Given the description of an element on the screen output the (x, y) to click on. 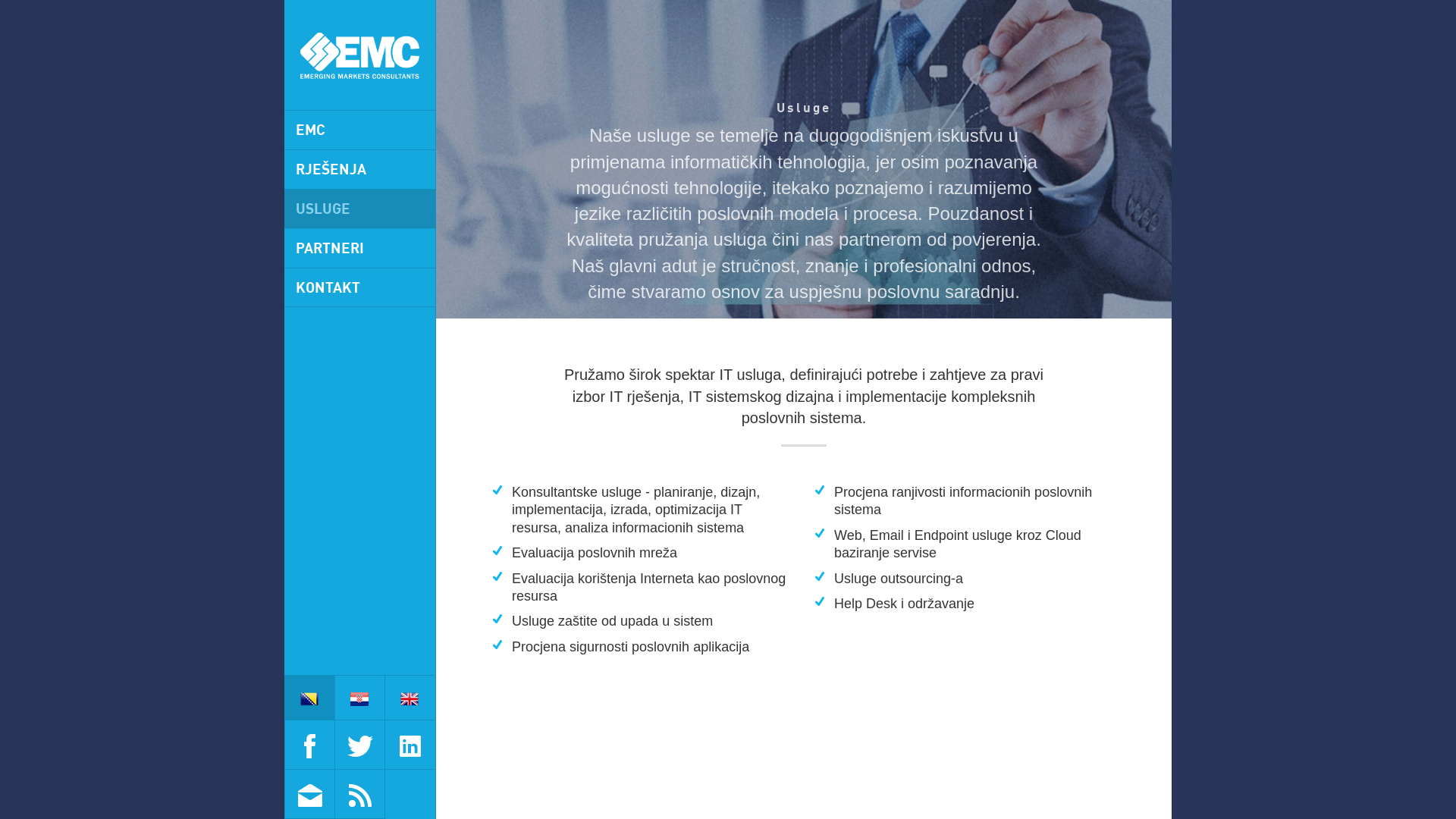
EMC Element type: text (359, 130)
English (UK) Element type: hover (409, 699)
USLUGE Element type: text (359, 209)
KONTAKT Element type: text (359, 287)
PARTNERI Element type: text (359, 248)
Bosanski (bs-BA) Element type: hover (309, 699)
Hrvatski (HR) Element type: hover (359, 699)
